Given the description of an element on the screen output the (x, y) to click on. 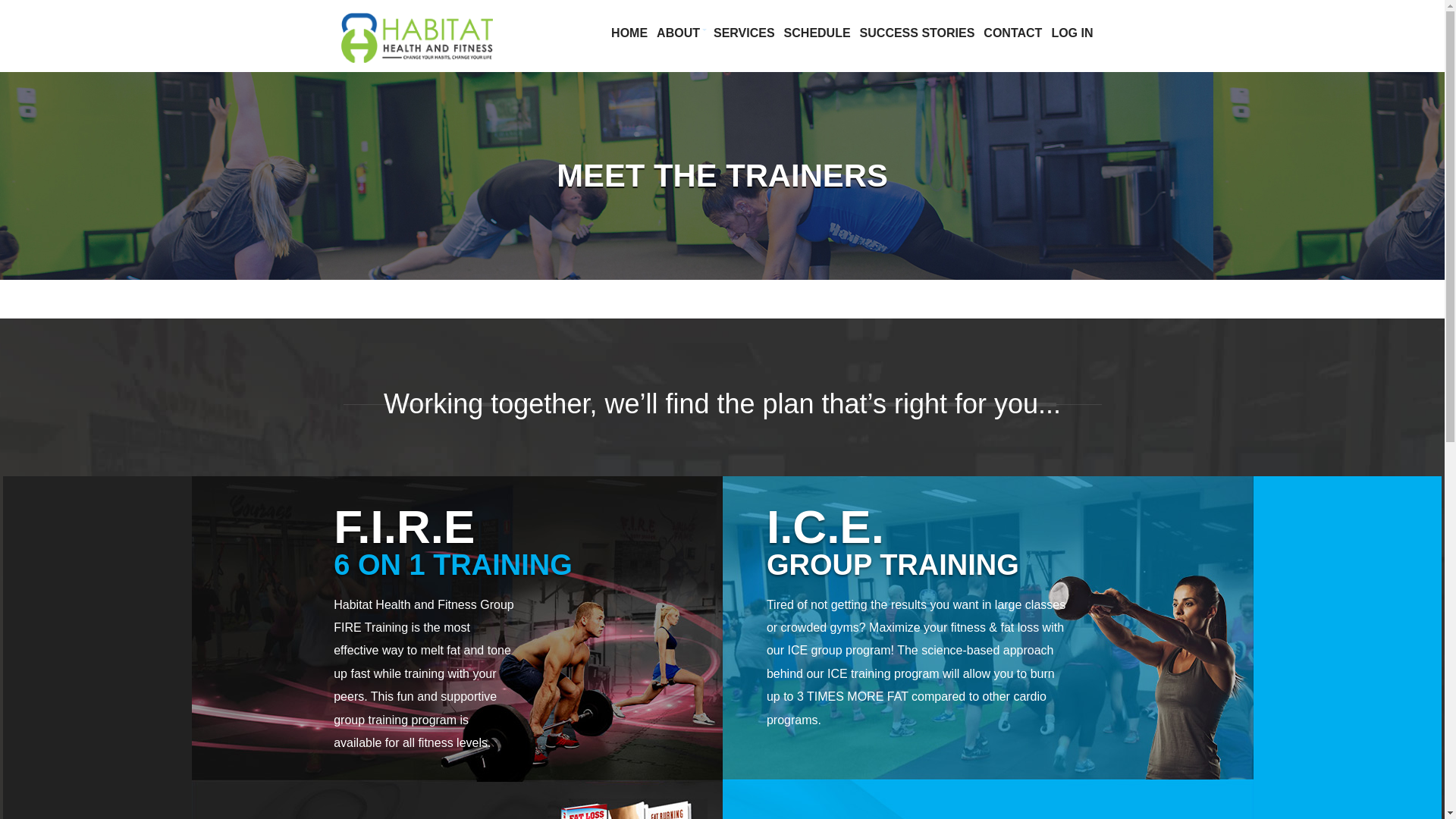
SERVICES (743, 33)
SCHEDULE (817, 33)
HOME (629, 33)
SUCCESS STORIES (917, 33)
ABOUT (680, 33)
Habitat Health and Fitness (420, 58)
LOG IN (1071, 33)
CONTACT (1012, 33)
